Given the description of an element on the screen output the (x, y) to click on. 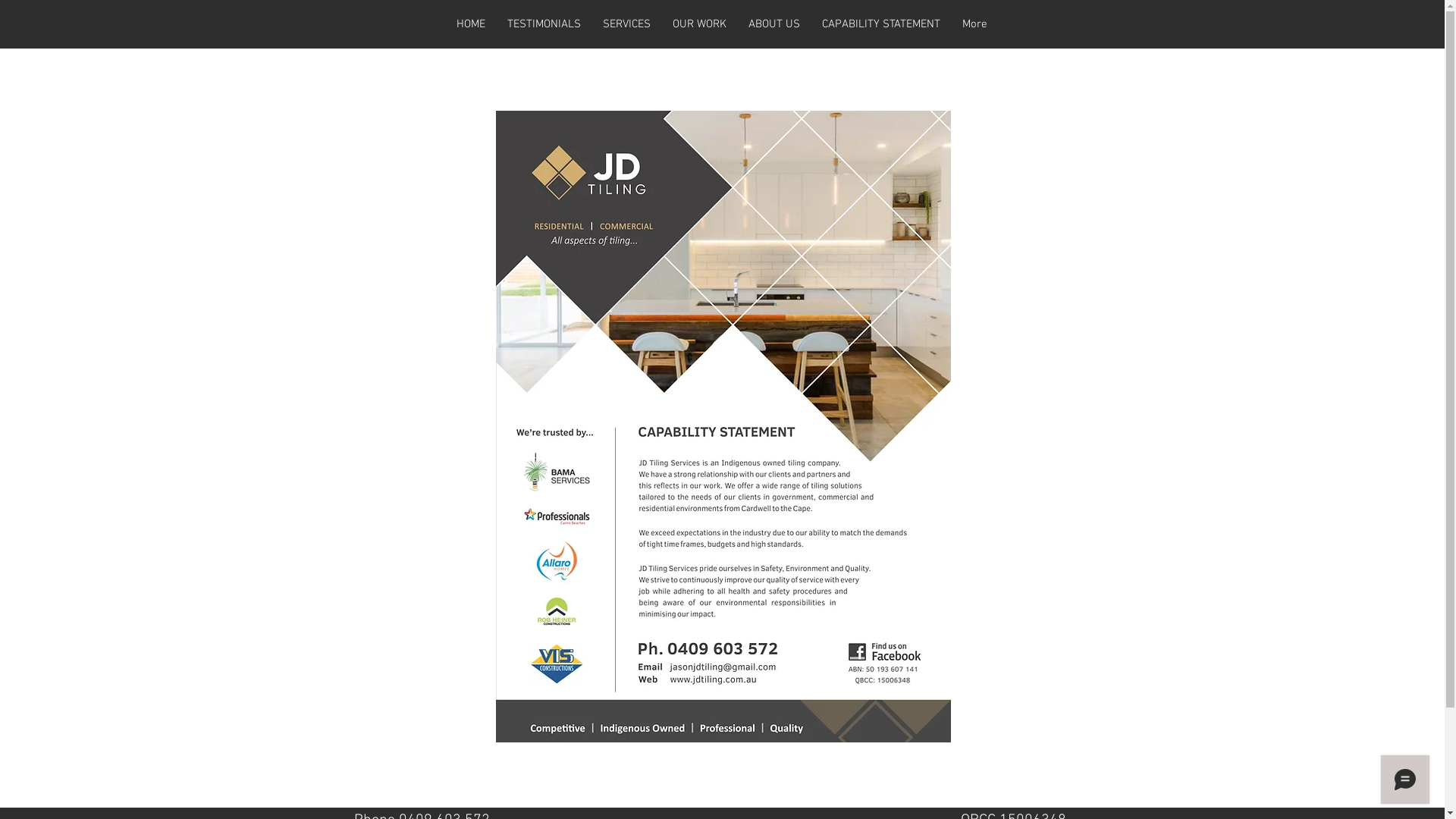
SERVICES Element type: text (626, 24)
CAPABILITY STATEMENT Element type: text (881, 24)
TESTIMONIALS Element type: text (543, 24)
HOME Element type: text (469, 24)
OUR WORK Element type: text (699, 24)
ABOUT US Element type: text (773, 24)
